Given the description of an element on the screen output the (x, y) to click on. 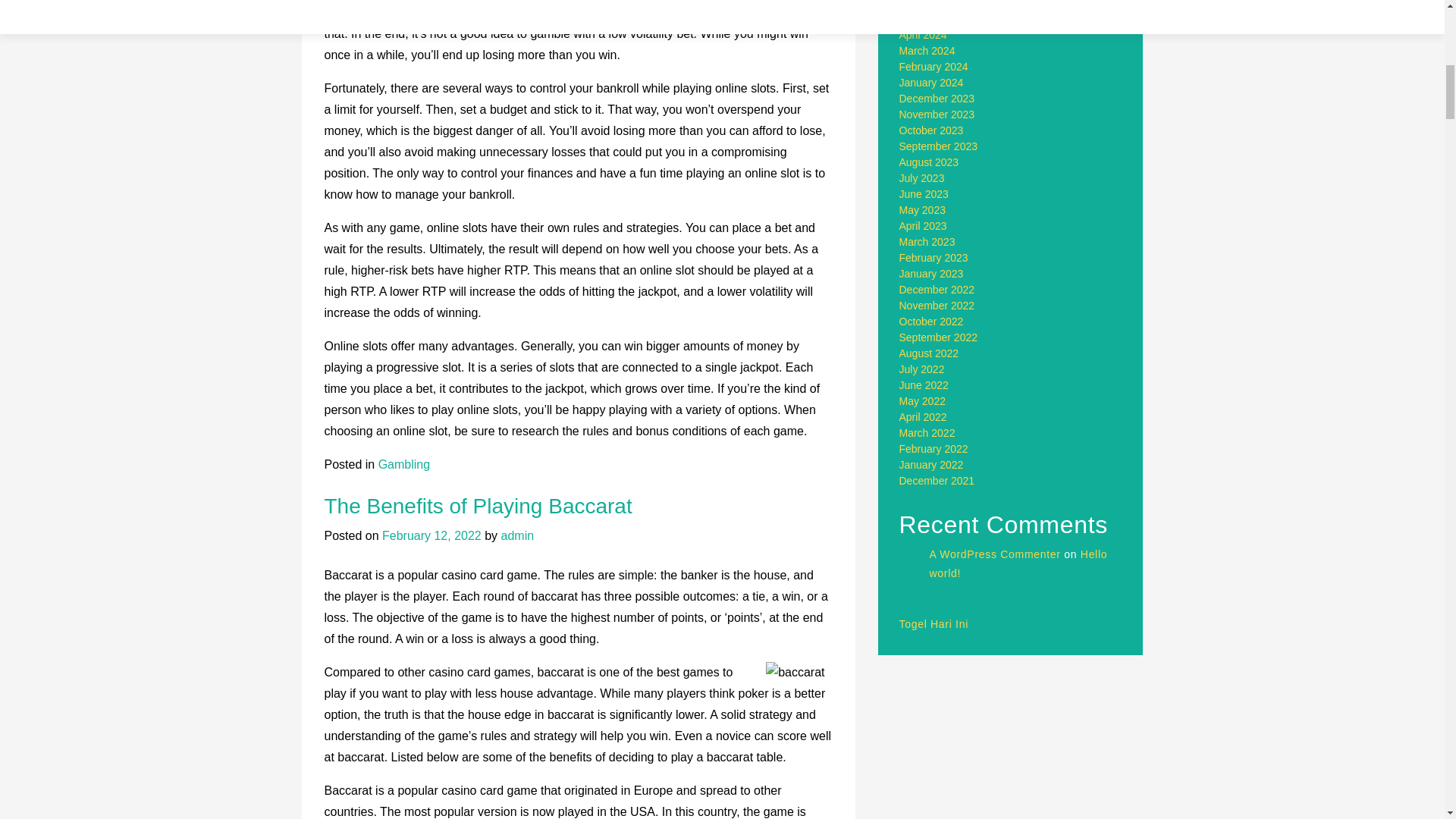
February 12, 2022 (431, 535)
admin (517, 535)
The Benefits of Playing Baccarat (477, 505)
Gambling (403, 463)
